Given the description of an element on the screen output the (x, y) to click on. 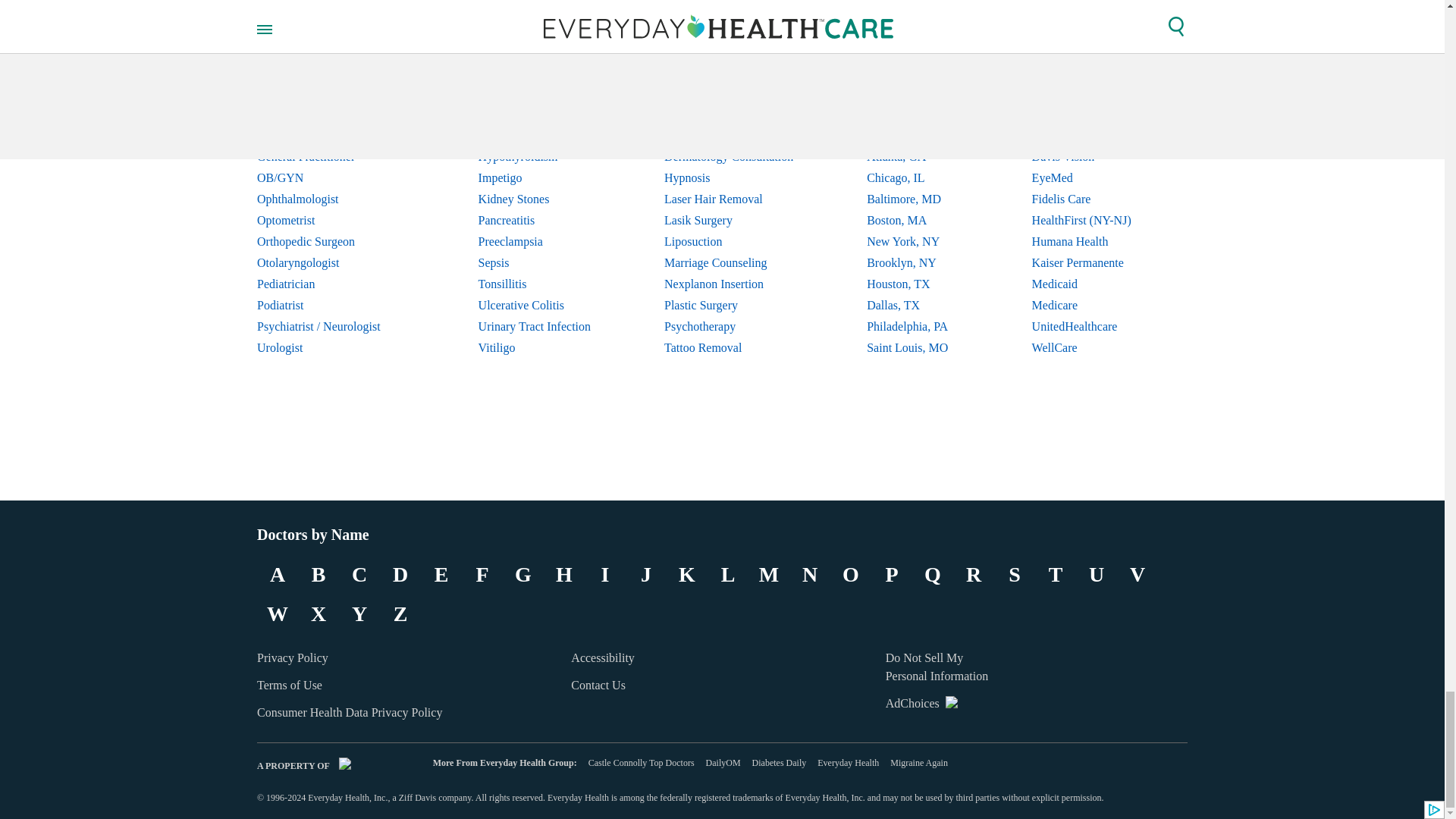
Optometrist (330, 219)
Podiatrist (330, 305)
Urologist (330, 347)
General Practitioner (330, 156)
Carpal Tunnel (535, 50)
Impetigo (535, 178)
Orthopedic Surgeon (330, 241)
Cardiologist (330, 71)
Ophthalmologist (330, 199)
Cold Sores (535, 71)
